Given the description of an element on the screen output the (x, y) to click on. 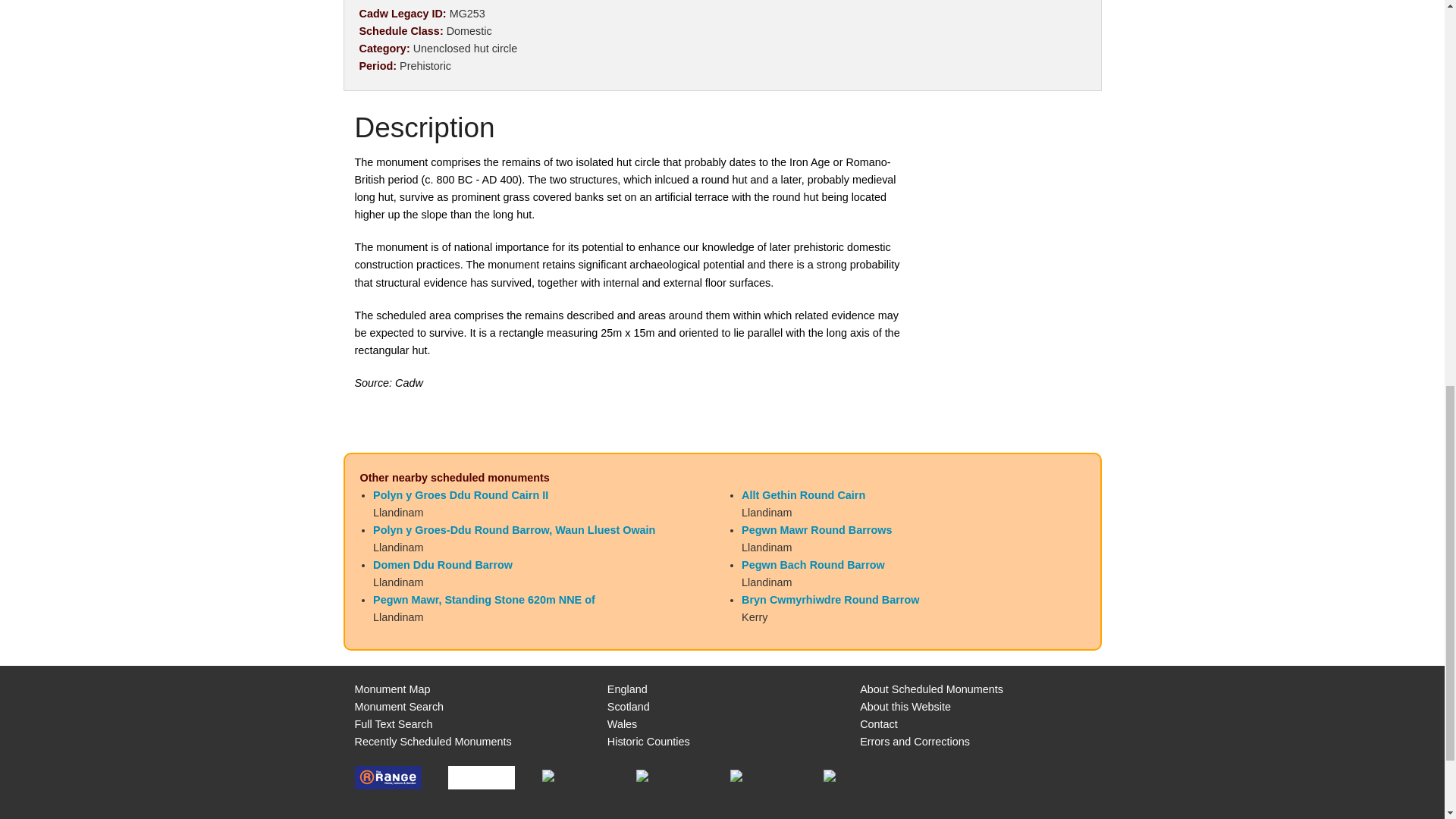
Domen Ddu Round Barrow (442, 564)
Polyn y Groes-Ddu Round Barrow, Waun Lluest Owain (513, 530)
Polyn y Groes Ddu Round Cairn II (460, 494)
Pegwn Mawr, Standing Stone 620m NNE of (483, 599)
Allt Gethin Round Cairn (802, 494)
